Given the description of an element on the screen output the (x, y) to click on. 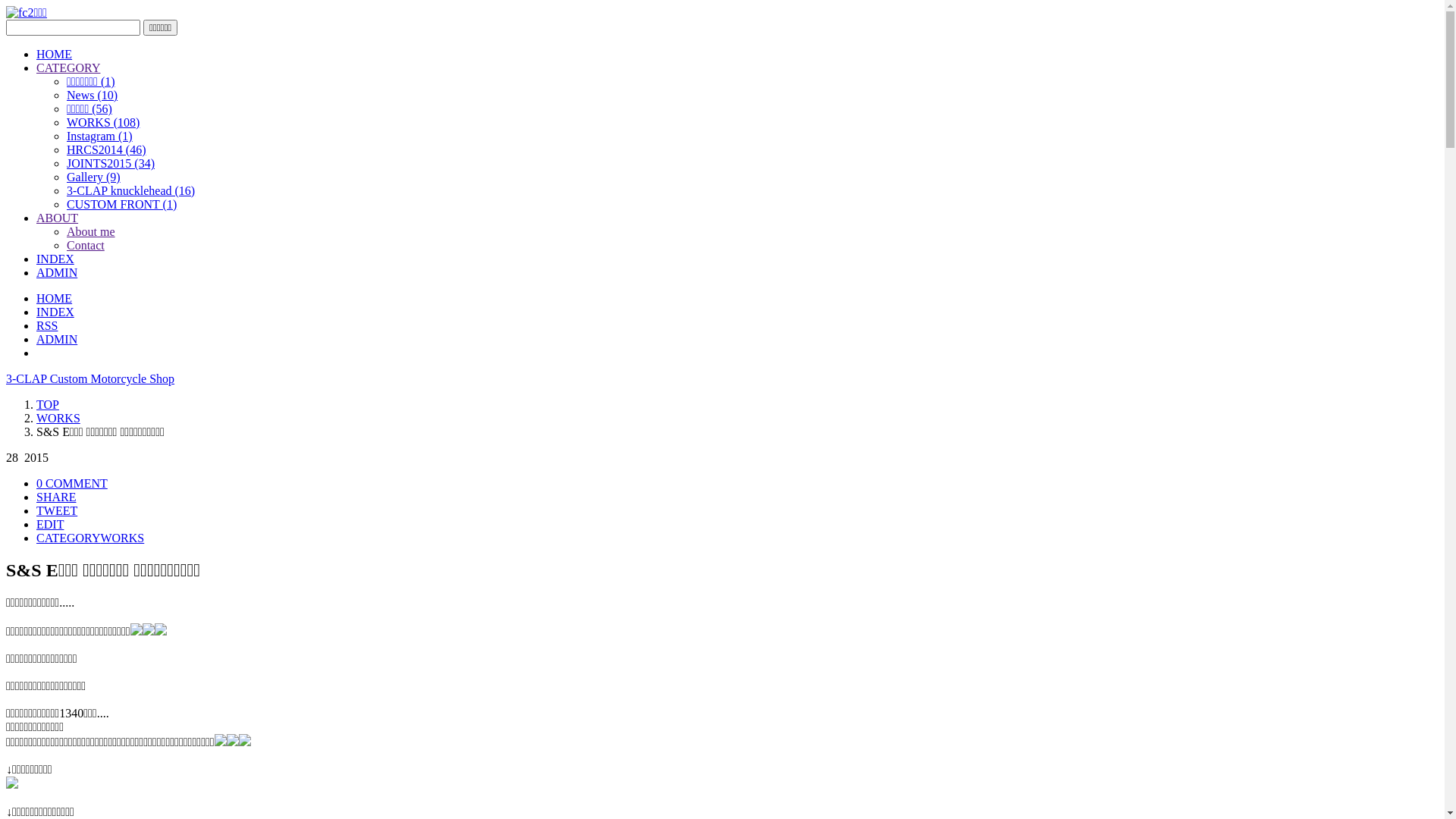
TOP Element type: text (47, 404)
JOINTS2015 (34) Element type: text (110, 162)
TWEET Element type: text (56, 510)
Gallery (9) Element type: text (93, 176)
WORKS (108) Element type: text (102, 122)
CATEGORYWORKS Element type: text (90, 537)
WORKS Element type: text (58, 417)
EDIT Element type: text (49, 523)
Contact Element type: text (85, 244)
SHARE Element type: text (55, 496)
About me Element type: text (90, 231)
CATEGORY Element type: text (68, 67)
Instagram (1) Element type: text (99, 135)
3-CLAP knucklehead (16) Element type: text (130, 190)
HOME Element type: text (54, 297)
3-CLAP Custom Motorcycle Shop Element type: text (90, 378)
INDEX Element type: text (55, 311)
CUSTOM FRONT (1) Element type: text (121, 203)
INDEX Element type: text (55, 258)
ADMIN Element type: text (56, 272)
0 COMMENT Element type: text (71, 482)
News (10) Element type: text (91, 94)
RSS Element type: text (46, 325)
ABOUT Element type: text (57, 217)
ADMIN Element type: text (56, 338)
HRCS2014 (46) Element type: text (105, 149)
HOME Element type: text (54, 53)
